Given the description of an element on the screen output the (x, y) to click on. 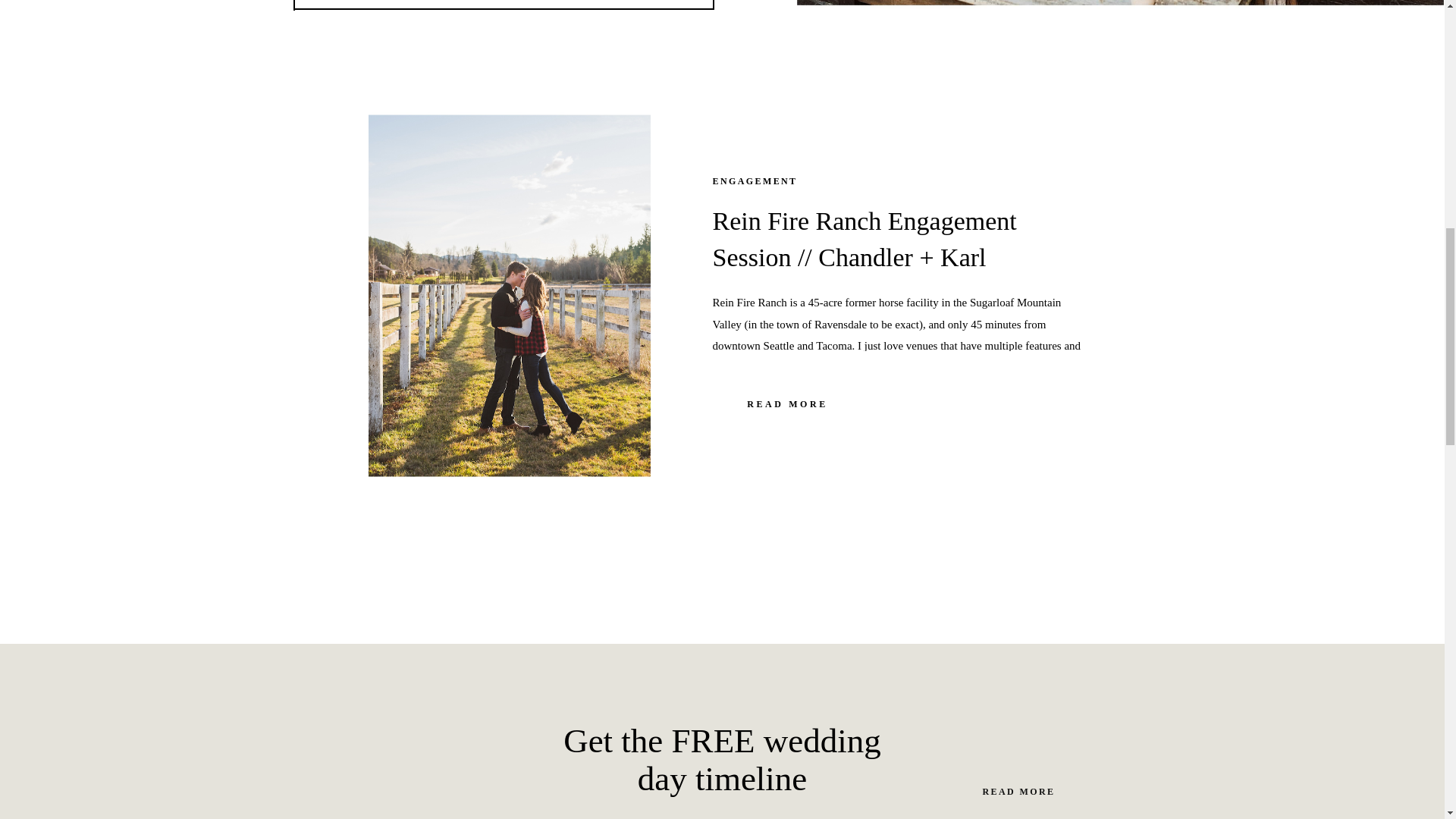
READ MORE (1018, 791)
READ MORE (788, 410)
ENGAGEMENT (755, 181)
